Given the description of an element on the screen output the (x, y) to click on. 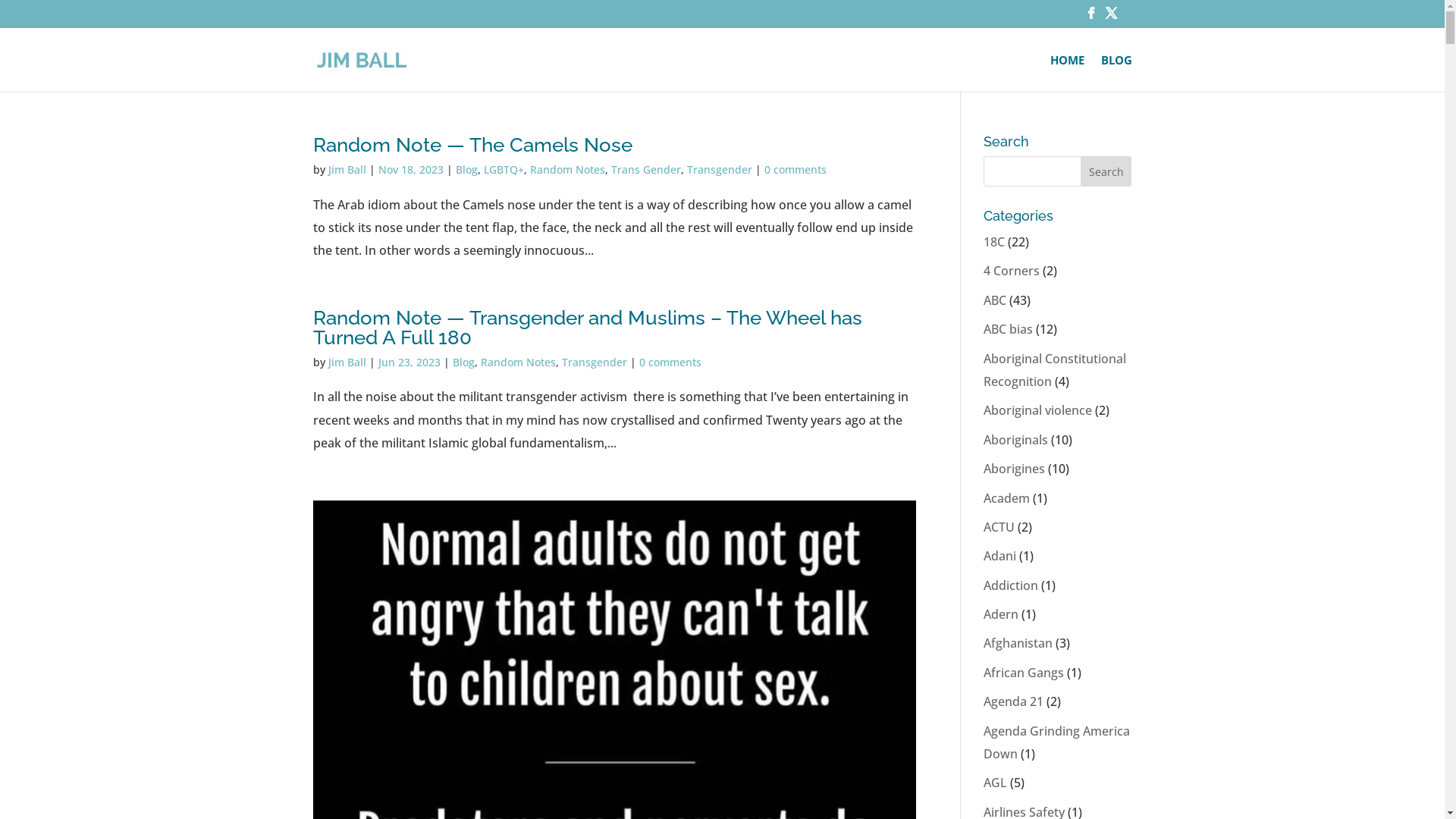
Academ Element type: text (1006, 497)
0 comments Element type: text (795, 169)
Random Notes Element type: text (517, 361)
Addiction Element type: text (1010, 585)
0 comments Element type: text (669, 361)
Aboriginal violence Element type: text (1037, 409)
Agenda 21 Element type: text (1013, 701)
Adern Element type: text (1000, 613)
African Gangs Element type: text (1023, 672)
Adani Element type: text (999, 555)
Transgender Element type: text (719, 169)
4 Corners Element type: text (1011, 270)
Jim Ball Element type: text (346, 169)
Aboriginal Constitutional Recognition Element type: text (1054, 369)
Blog Element type: text (462, 361)
LGBTQ+ Element type: text (503, 169)
Random Notes Element type: text (566, 169)
Jim Ball Element type: text (346, 361)
Afghanistan Element type: text (1017, 642)
ABC Element type: text (994, 299)
HOME Element type: text (1066, 72)
Blog Element type: text (465, 169)
Aborigines Element type: text (1013, 468)
ACTU Element type: text (998, 526)
Search Element type: text (1106, 171)
BLOG Element type: text (1116, 72)
Transgender Element type: text (593, 361)
Agenda Grinding America Down Element type: text (1056, 742)
AGL Element type: text (995, 782)
18C Element type: text (993, 241)
ABC bias Element type: text (1007, 328)
Trans Gender Element type: text (645, 169)
Aboriginals Element type: text (1015, 439)
